Given the description of an element on the screen output the (x, y) to click on. 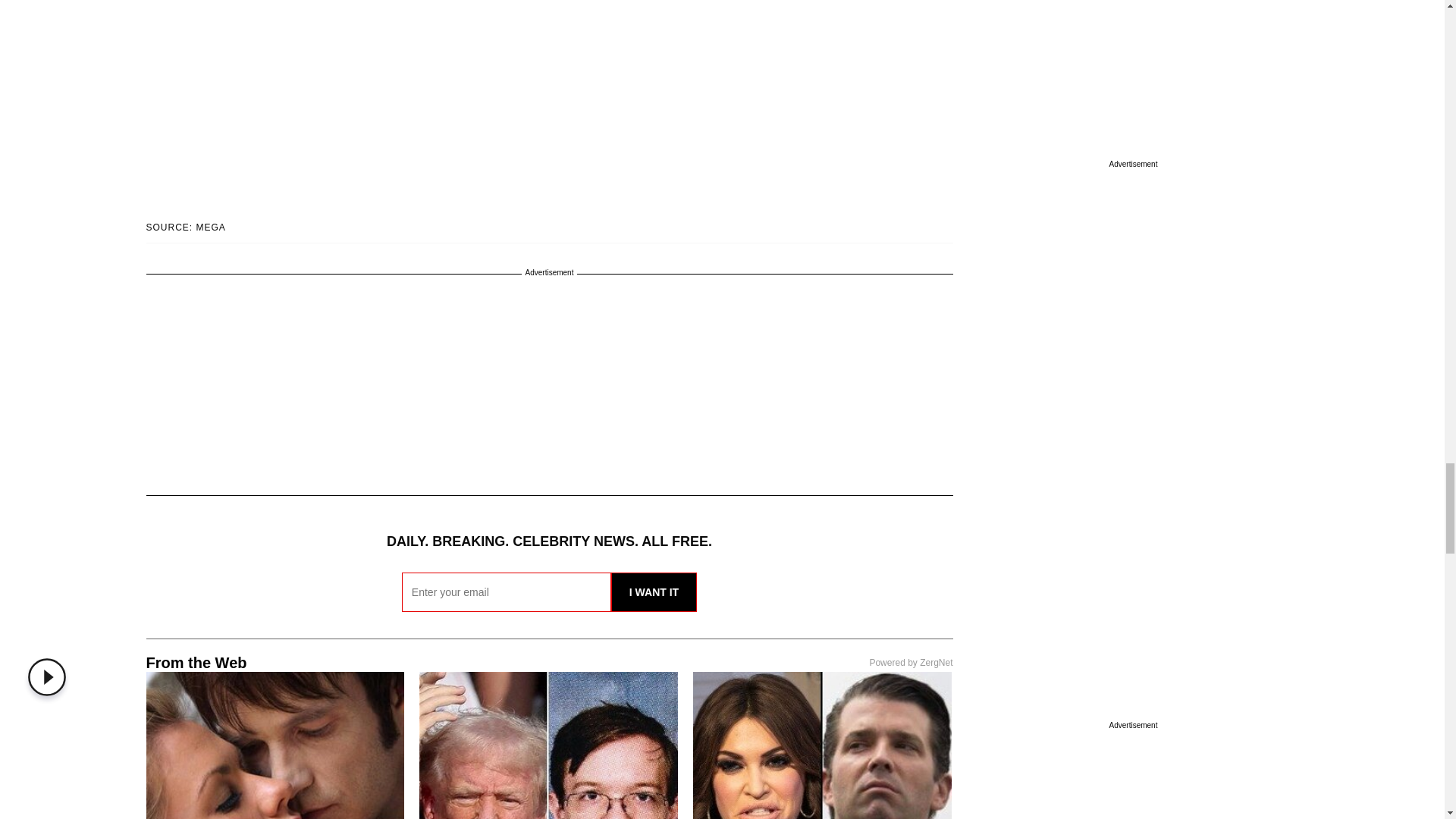
Powered by ZergNet (910, 662)
I WANT IT (654, 591)
I WANT IT (654, 591)
